Given the description of an element on the screen output the (x, y) to click on. 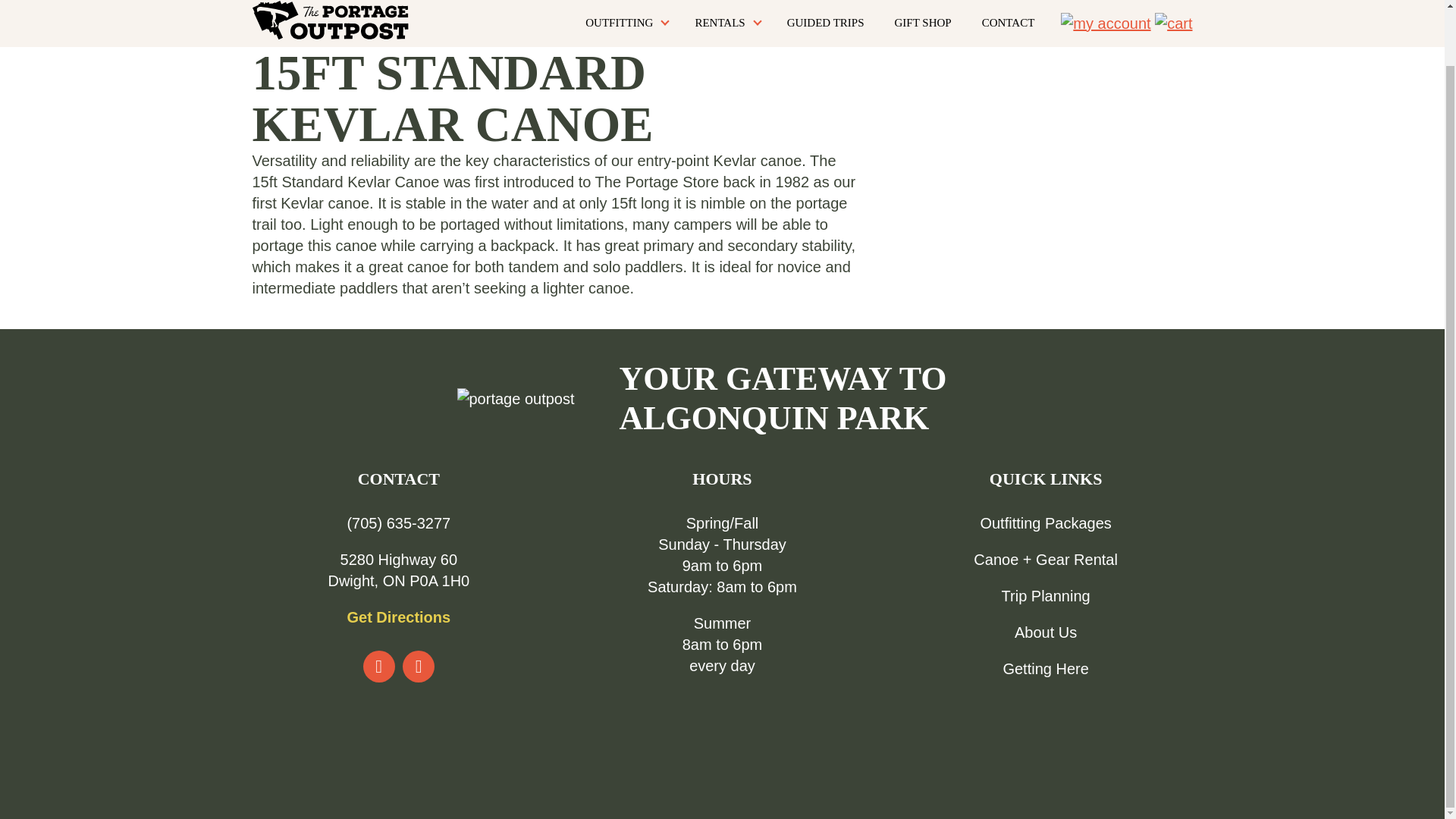
RENTALS (725, 23)
GIFT SHOP (923, 23)
CONTACT (1008, 23)
Getting Here (1045, 668)
Get Directions (397, 617)
GUIDED TRIPS (825, 23)
OUTFITTING (624, 23)
Outfitting Packages (1044, 523)
